Given the description of an element on the screen output the (x, y) to click on. 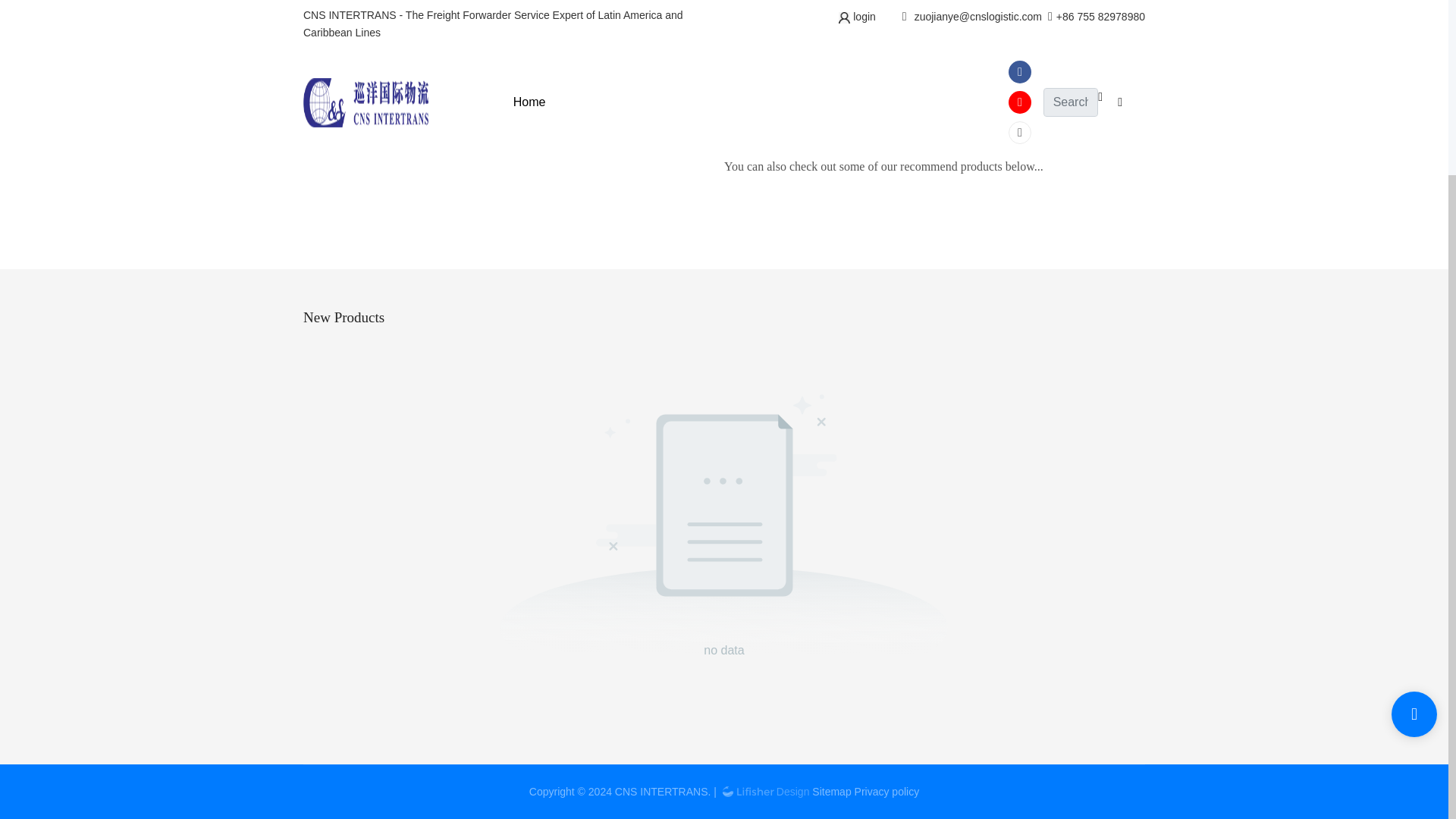
My Website (789, 122)
GO TO HOMEPAGE (921, 56)
Privacy policy (887, 791)
Sitemap (831, 791)
